Given the description of an element on the screen output the (x, y) to click on. 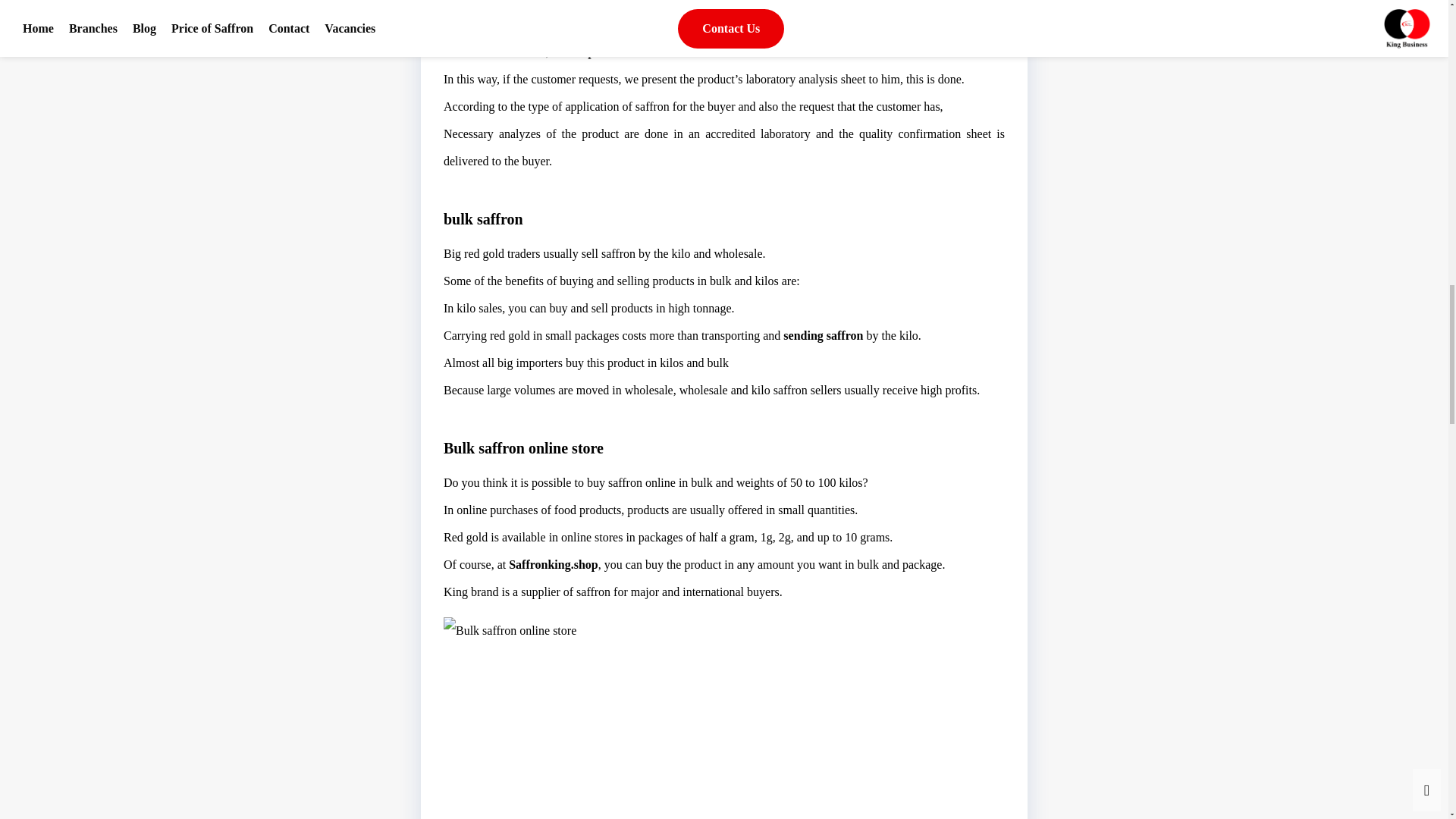
Saffronking.shop (553, 563)
sending saffron (823, 335)
export saffron (612, 51)
